Given the description of an element on the screen output the (x, y) to click on. 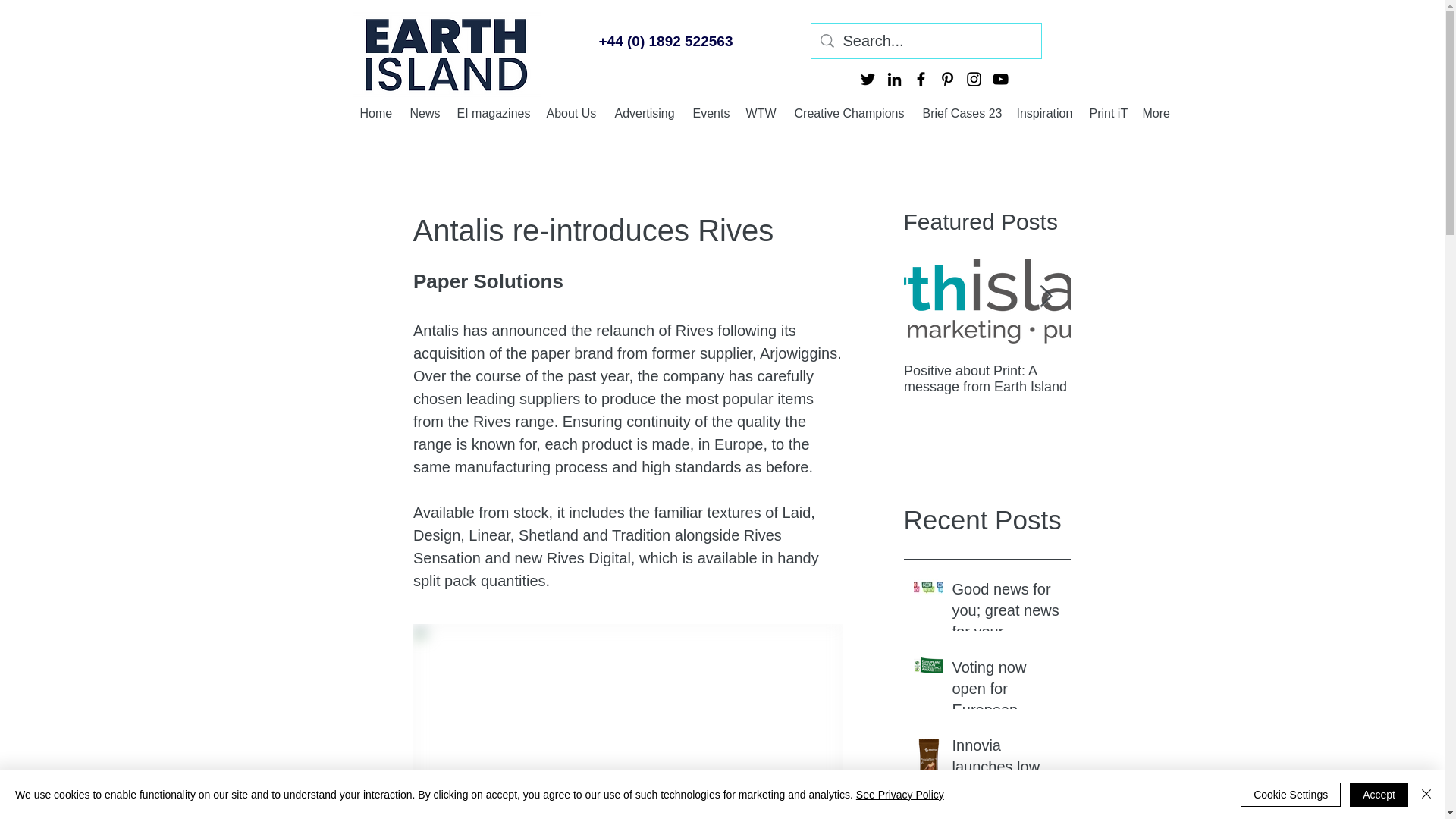
Positive about Print: A message from Earth Island (987, 377)
Good news for you; great news for your customers (1006, 613)
Events (711, 112)
Creative Champions (851, 112)
News (424, 112)
WTW (762, 112)
Advertising (645, 112)
Positive about Print: A message from Earth Island (1153, 377)
Inspiration (1045, 112)
Home (376, 112)
EI magazines (493, 112)
Brief Cases 23 (961, 112)
Print iT (1107, 112)
